Given the description of an element on the screen output the (x, y) to click on. 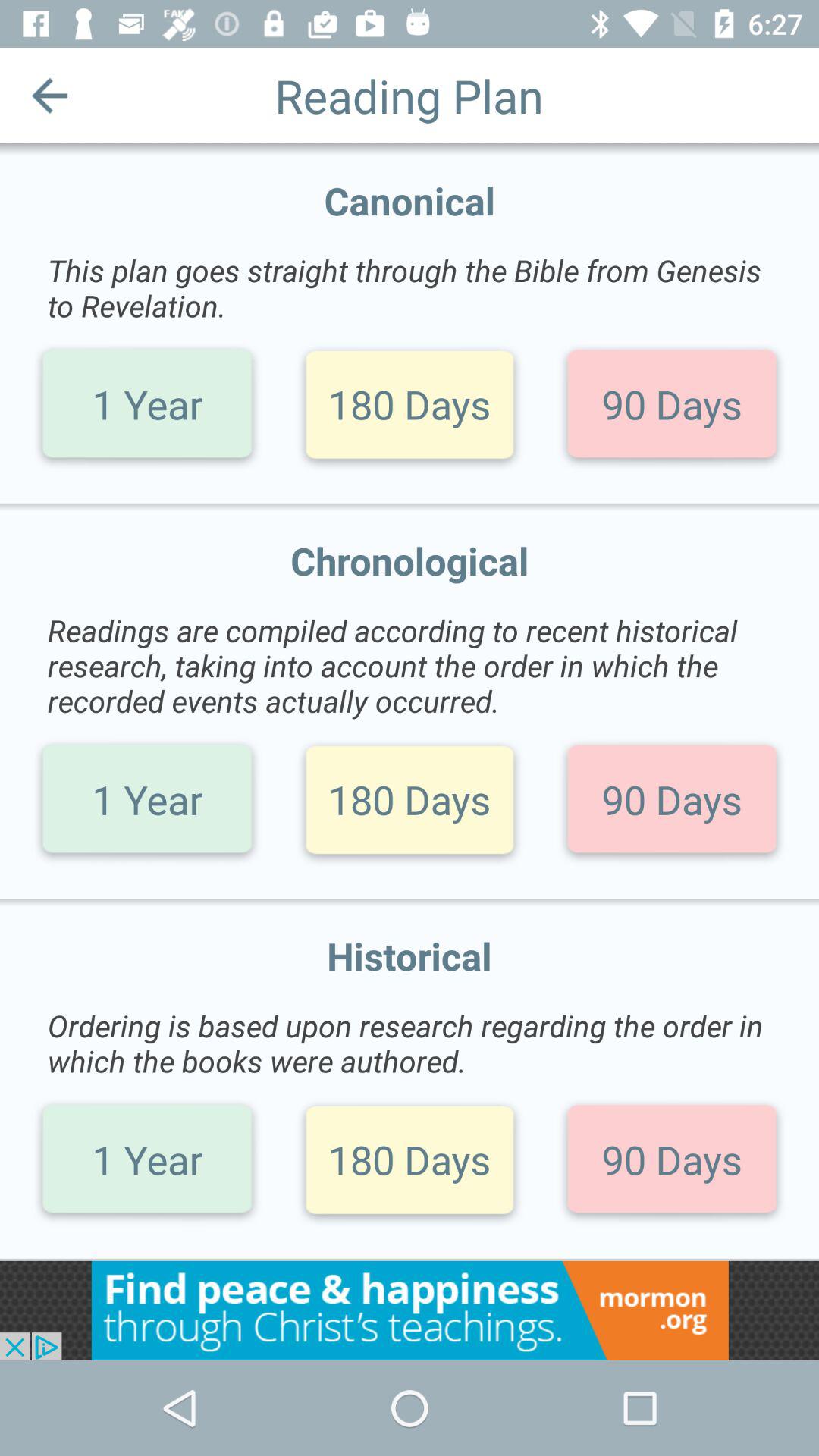
advertisement (409, 1310)
